Given the description of an element on the screen output the (x, y) to click on. 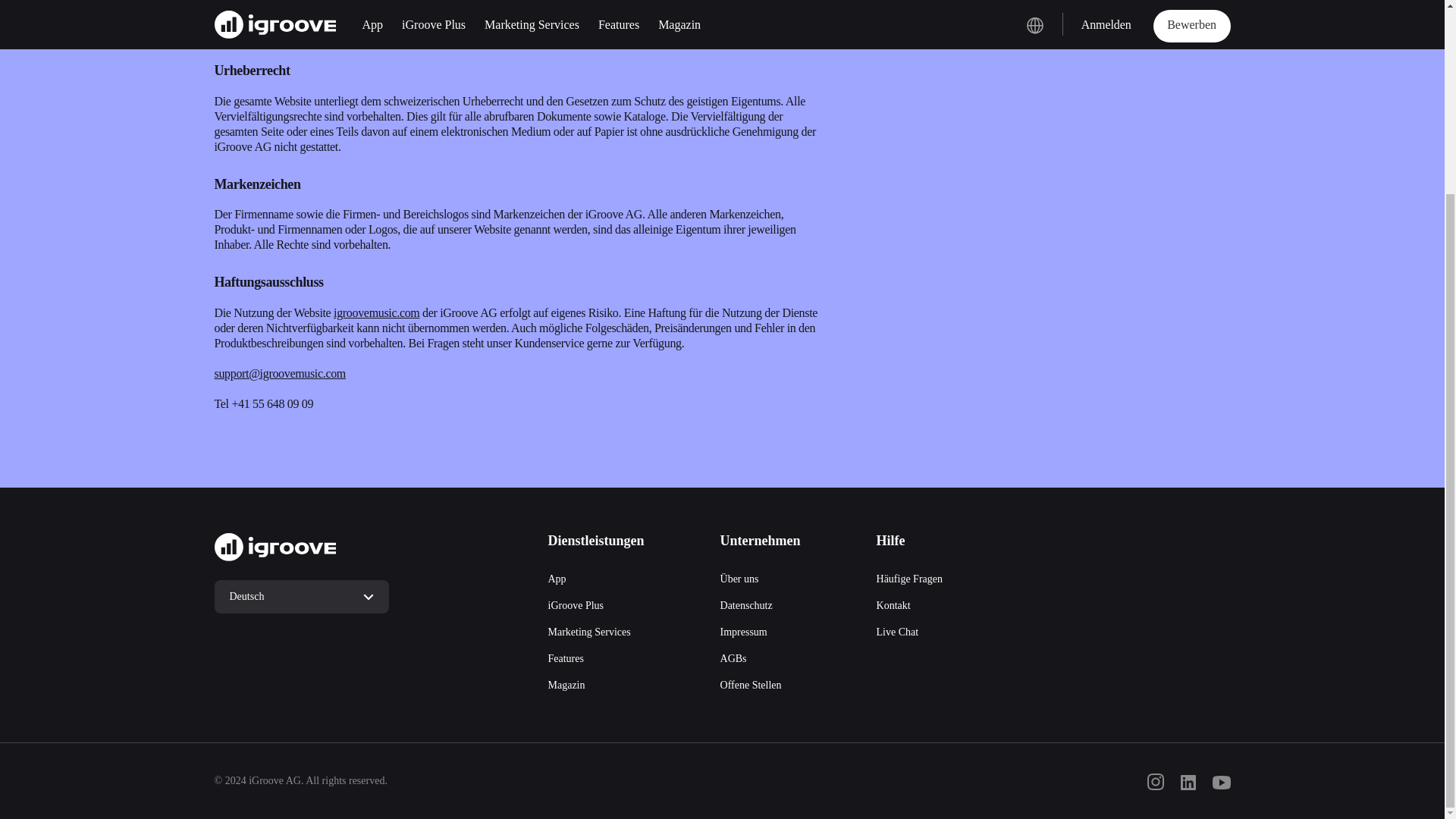
AGBs (733, 658)
Magazin (566, 685)
Kontakt (893, 604)
Features (565, 658)
iGroove Plus (575, 604)
igroovemusic.com (376, 312)
Impressum (743, 632)
Offene Stellen (750, 685)
App (556, 578)
Live Chat (897, 632)
